Given the description of an element on the screen output the (x, y) to click on. 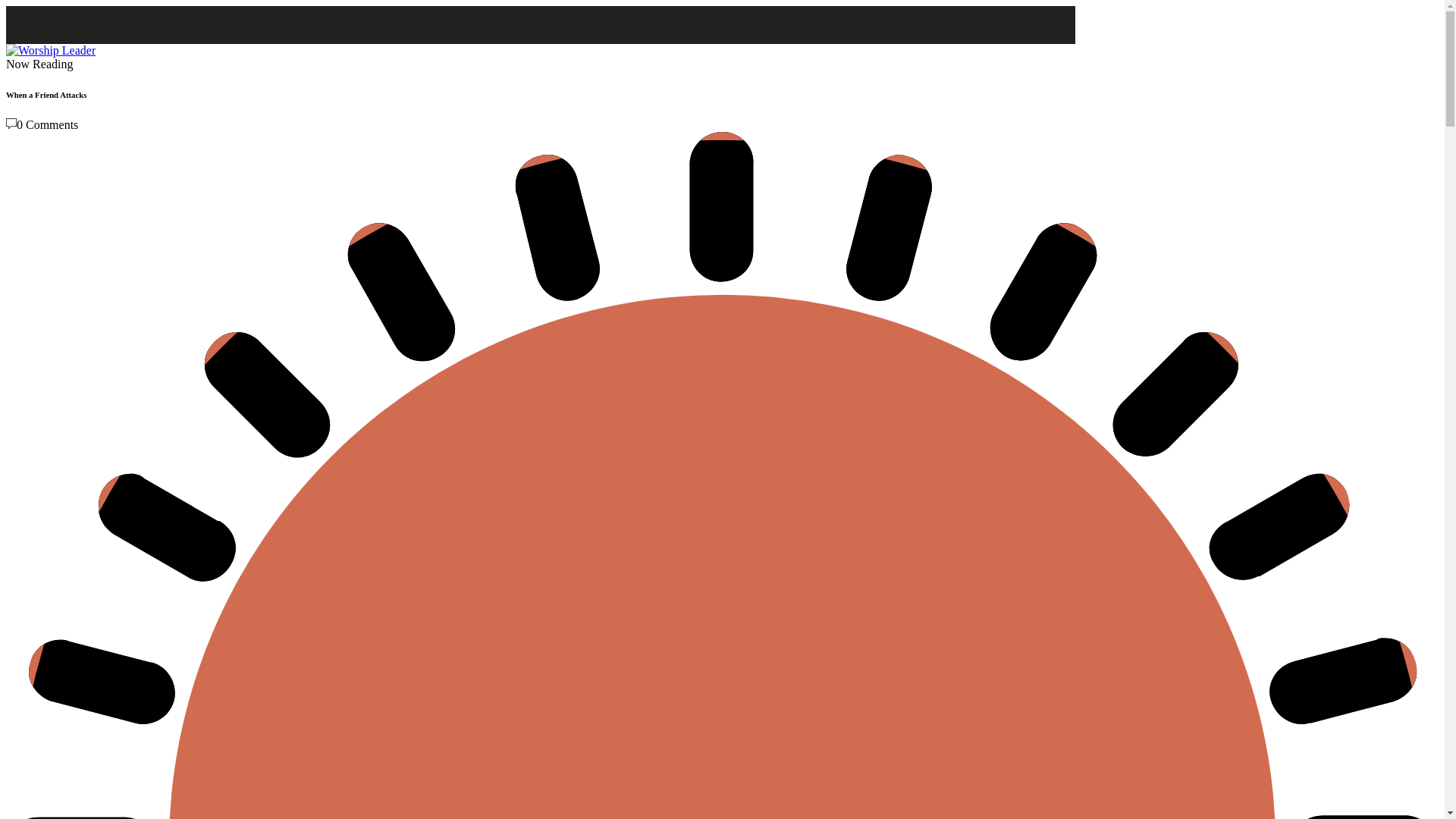
Worship Leader (50, 50)
